Given the description of an element on the screen output the (x, y) to click on. 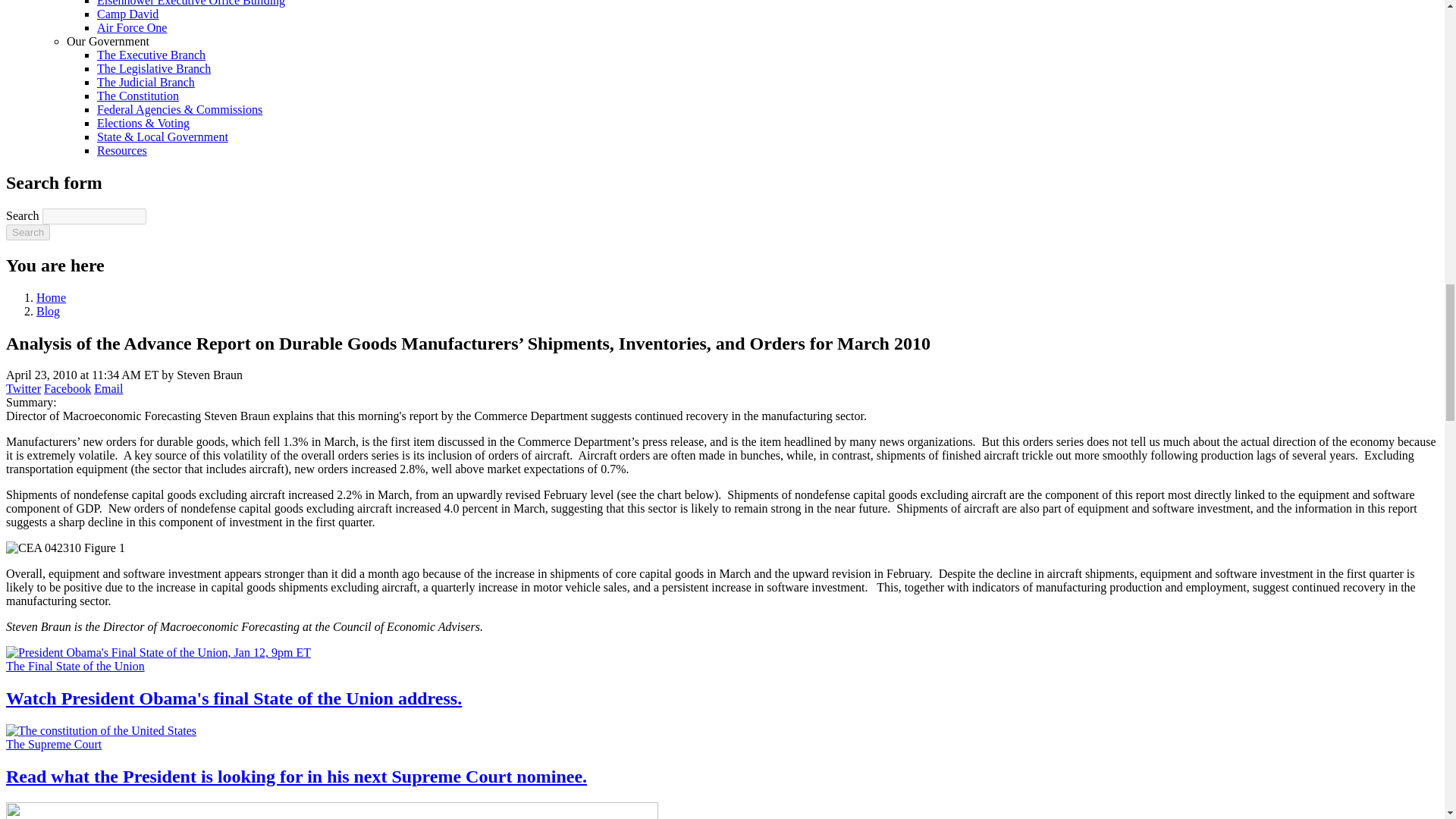
Facebook (66, 388)
CEA 042310 Figure 1 (65, 548)
Enter the terms you wish to search for. (94, 216)
Twitter (22, 388)
Search (27, 232)
Email (108, 388)
